Given the description of an element on the screen output the (x, y) to click on. 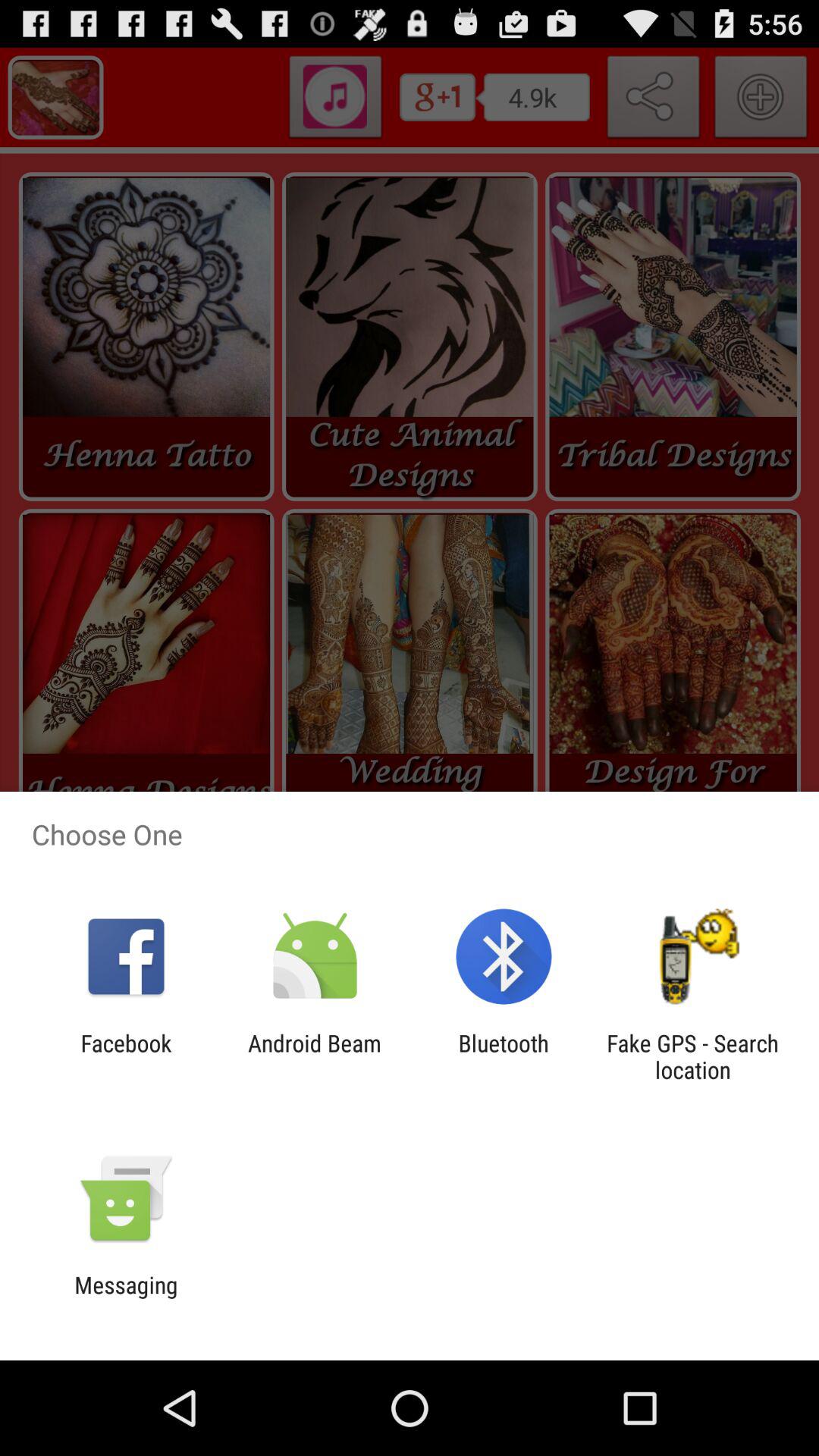
tap app at the bottom right corner (692, 1056)
